Given the description of an element on the screen output the (x, y) to click on. 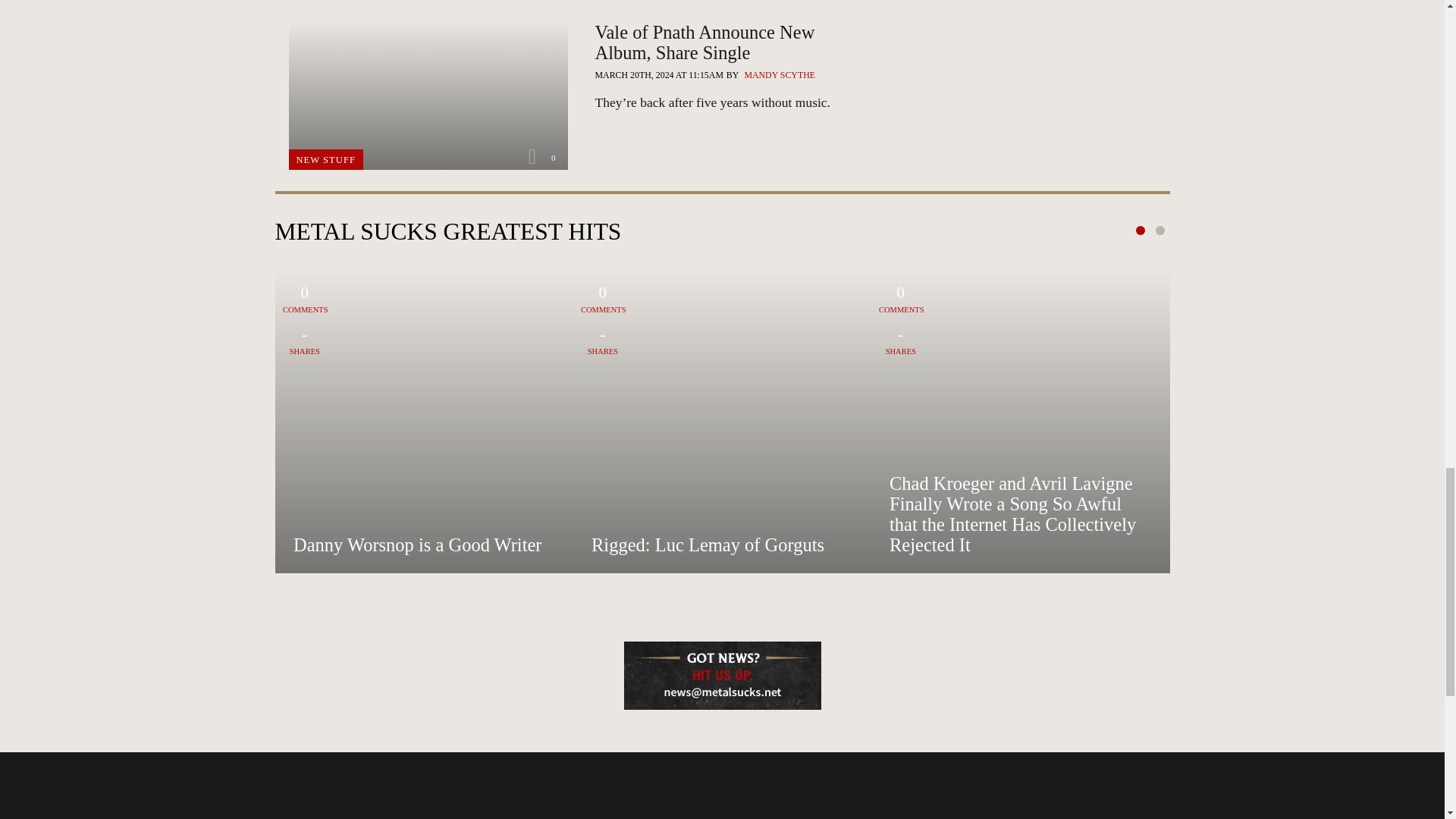
Vale of Pnath Announce New Album, Share Single (733, 102)
